Given the description of an element on the screen output the (x, y) to click on. 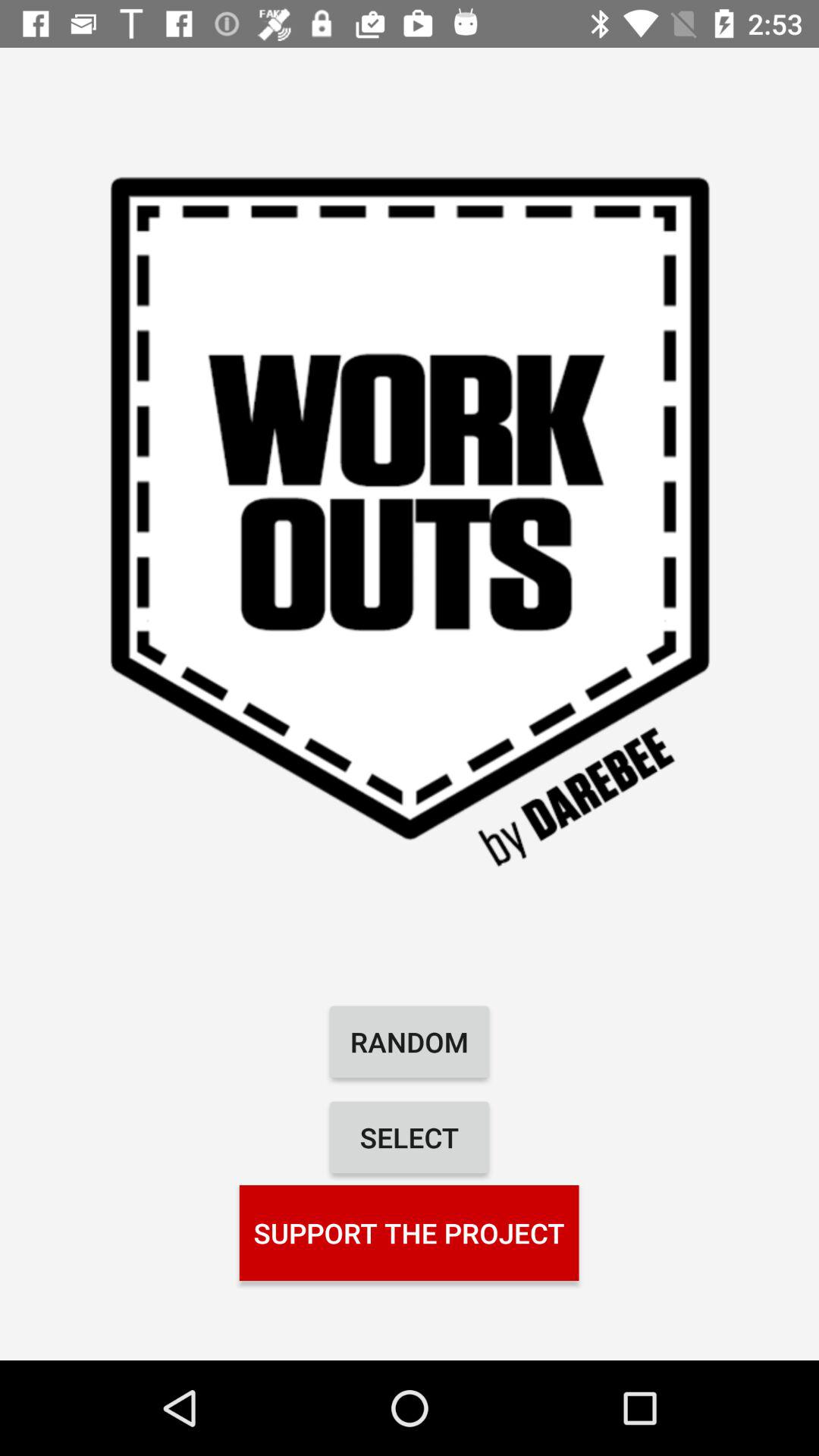
turn on item below the random item (409, 1137)
